Given the description of an element on the screen output the (x, y) to click on. 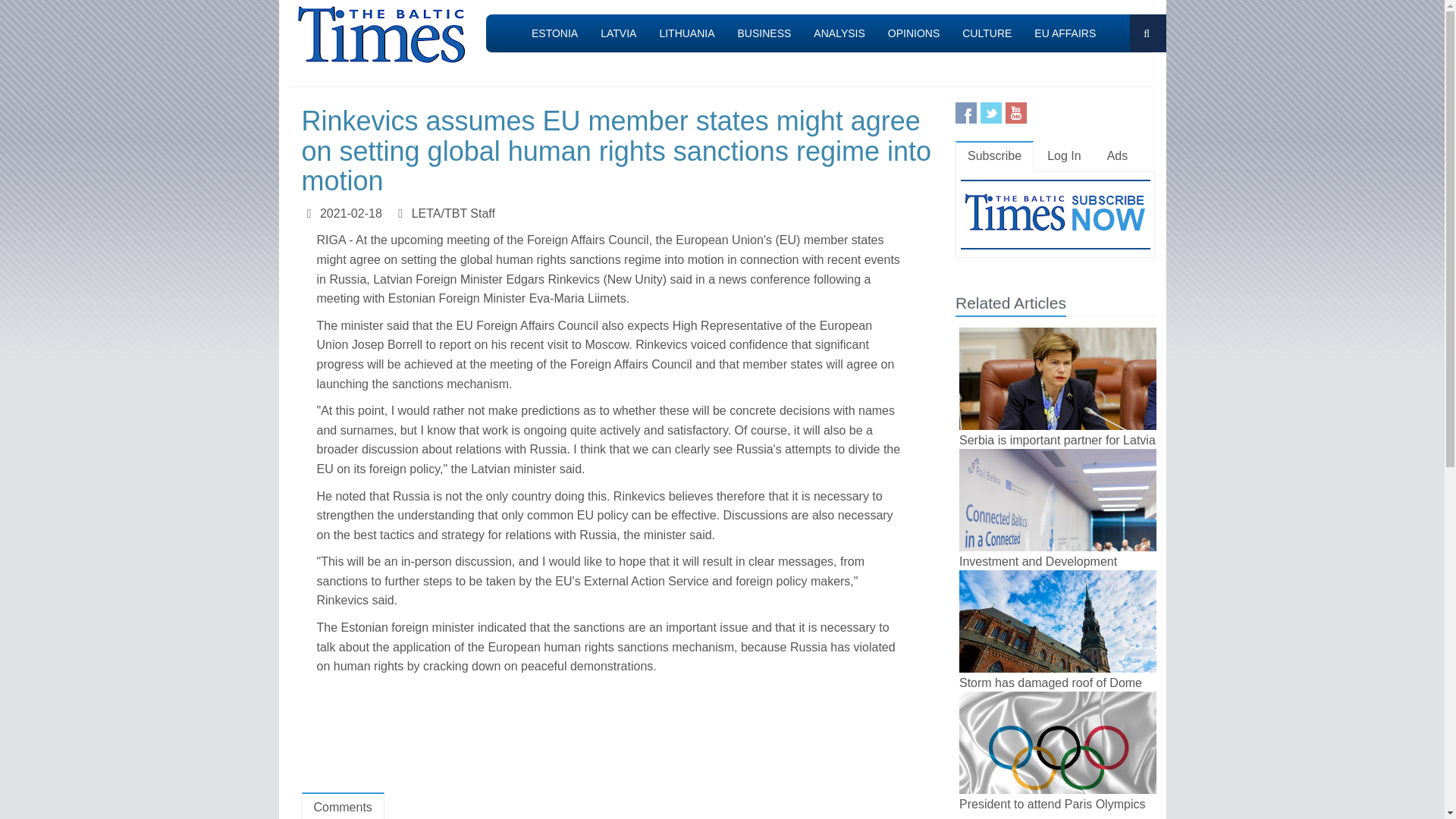
CULTURE (986, 33)
Comments (342, 805)
Log In (1064, 155)
LATVIA (618, 33)
BUSINESS (764, 33)
LITHUANIA (686, 33)
ESTONIA (554, 33)
Subscribe (994, 155)
ANALYSIS (839, 33)
Advertisement (622, 736)
